Given the description of an element on the screen output the (x, y) to click on. 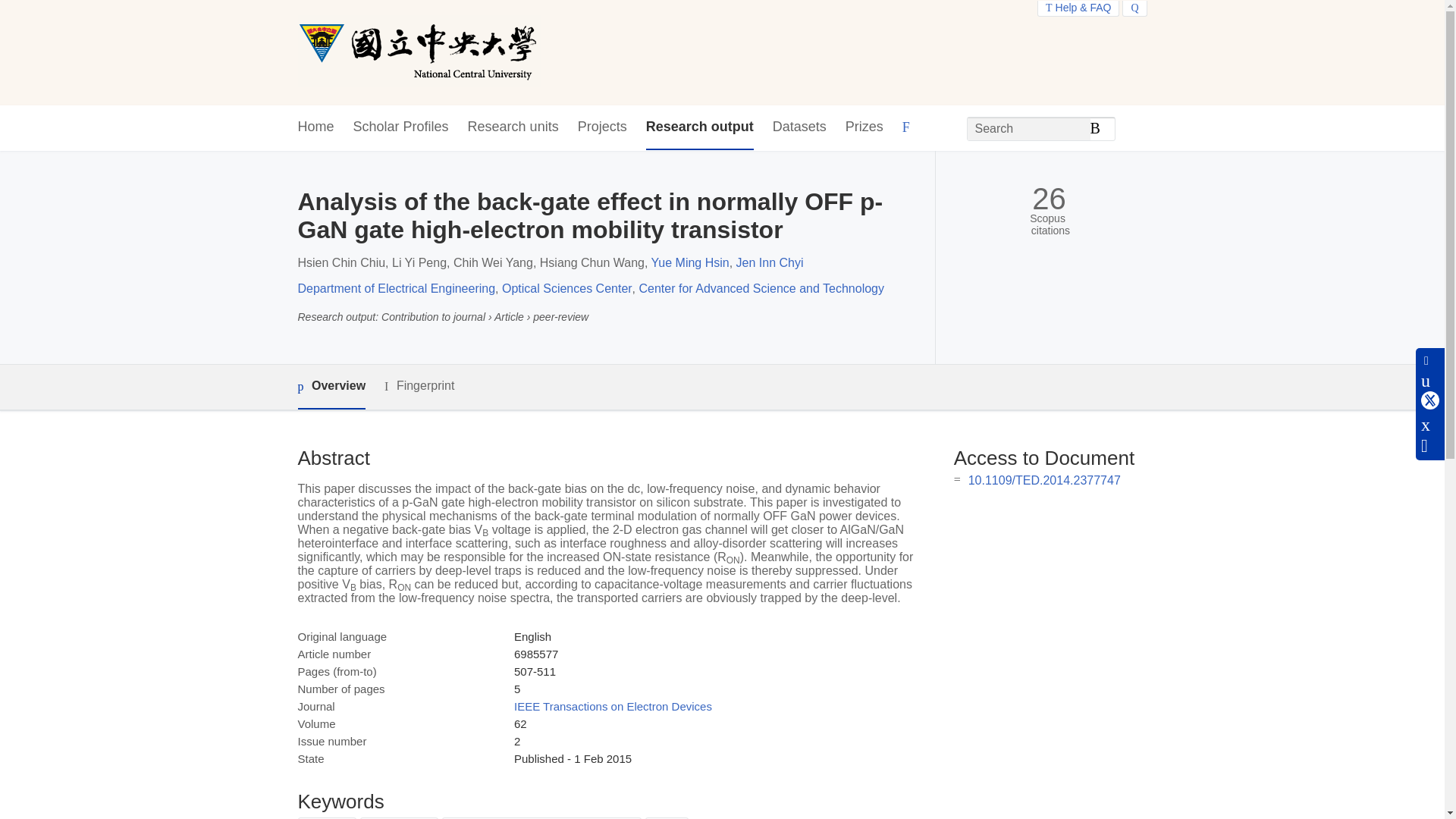
Optical Sciences Center (566, 287)
Center for Advanced Science and Technology (761, 287)
Research units (513, 127)
Yue Ming Hsin (689, 262)
Research output (700, 127)
Department of Electrical Engineering (396, 287)
Datasets (800, 127)
IEEE Transactions on Electron Devices (612, 706)
Jen Inn Chyi (769, 262)
Fingerprint (419, 385)
